Given the description of an element on the screen output the (x, y) to click on. 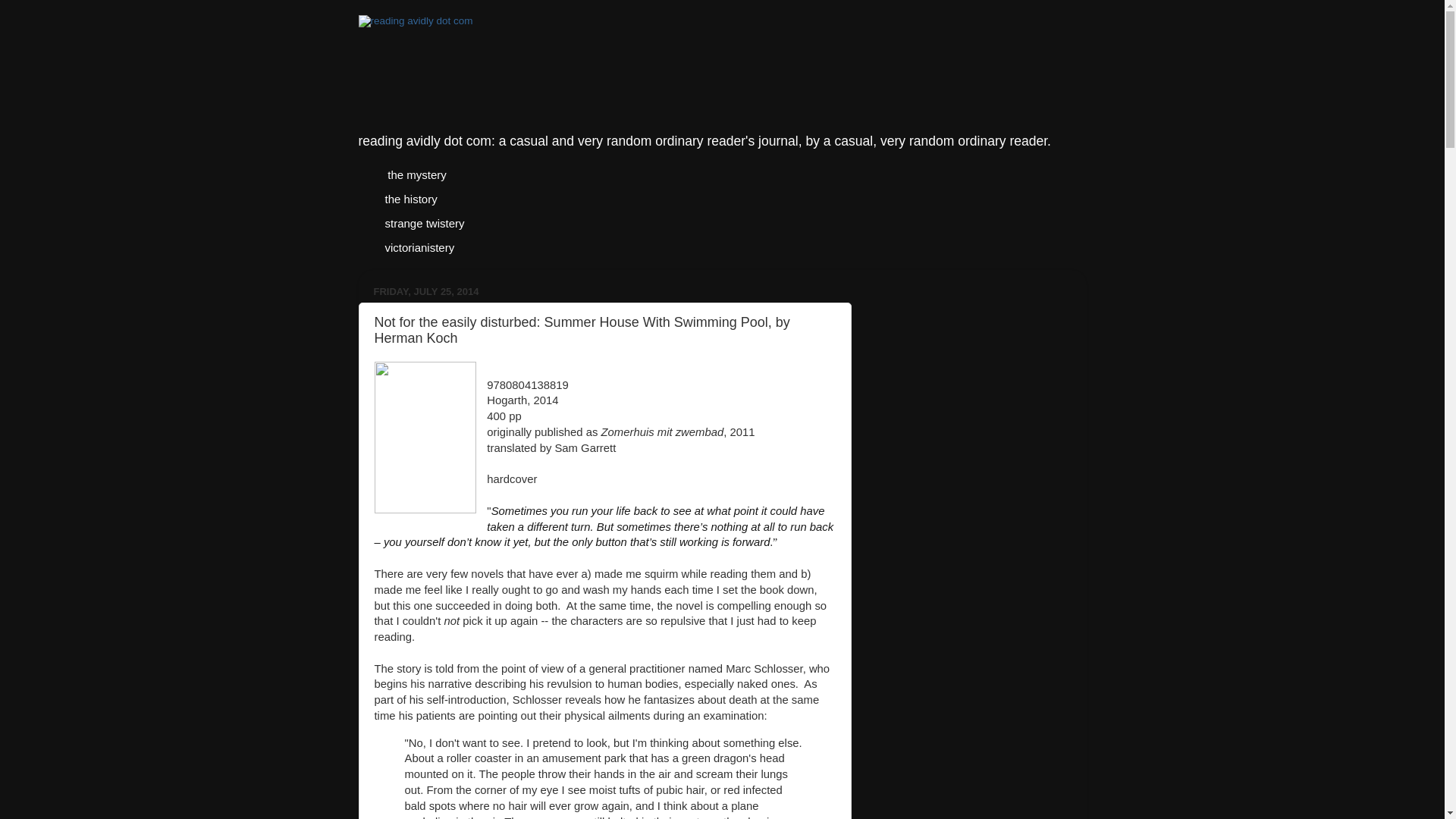
strange twistery (424, 222)
the mystery (415, 174)
the history (410, 198)
victorianistery (418, 247)
